Given the description of an element on the screen output the (x, y) to click on. 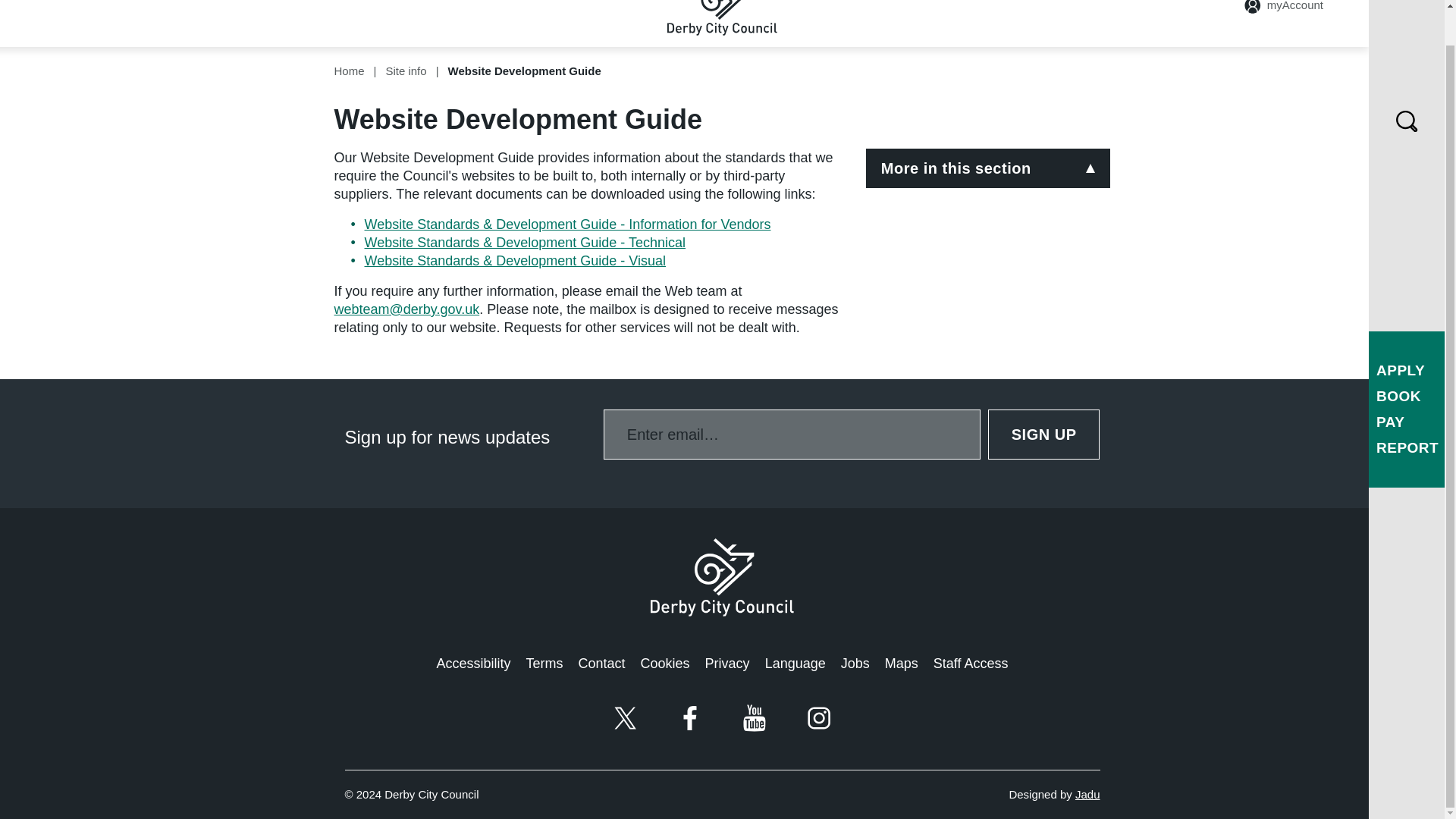
Site info (405, 70)
Home (348, 70)
REPORT (1406, 411)
Derby City Council logo (721, 577)
Sign up (1044, 434)
BOOK (1398, 359)
myAccount (1283, 8)
APPLY (1400, 333)
Derby City Council logo (721, 18)
PAY (1390, 385)
